Given the description of an element on the screen output the (x, y) to click on. 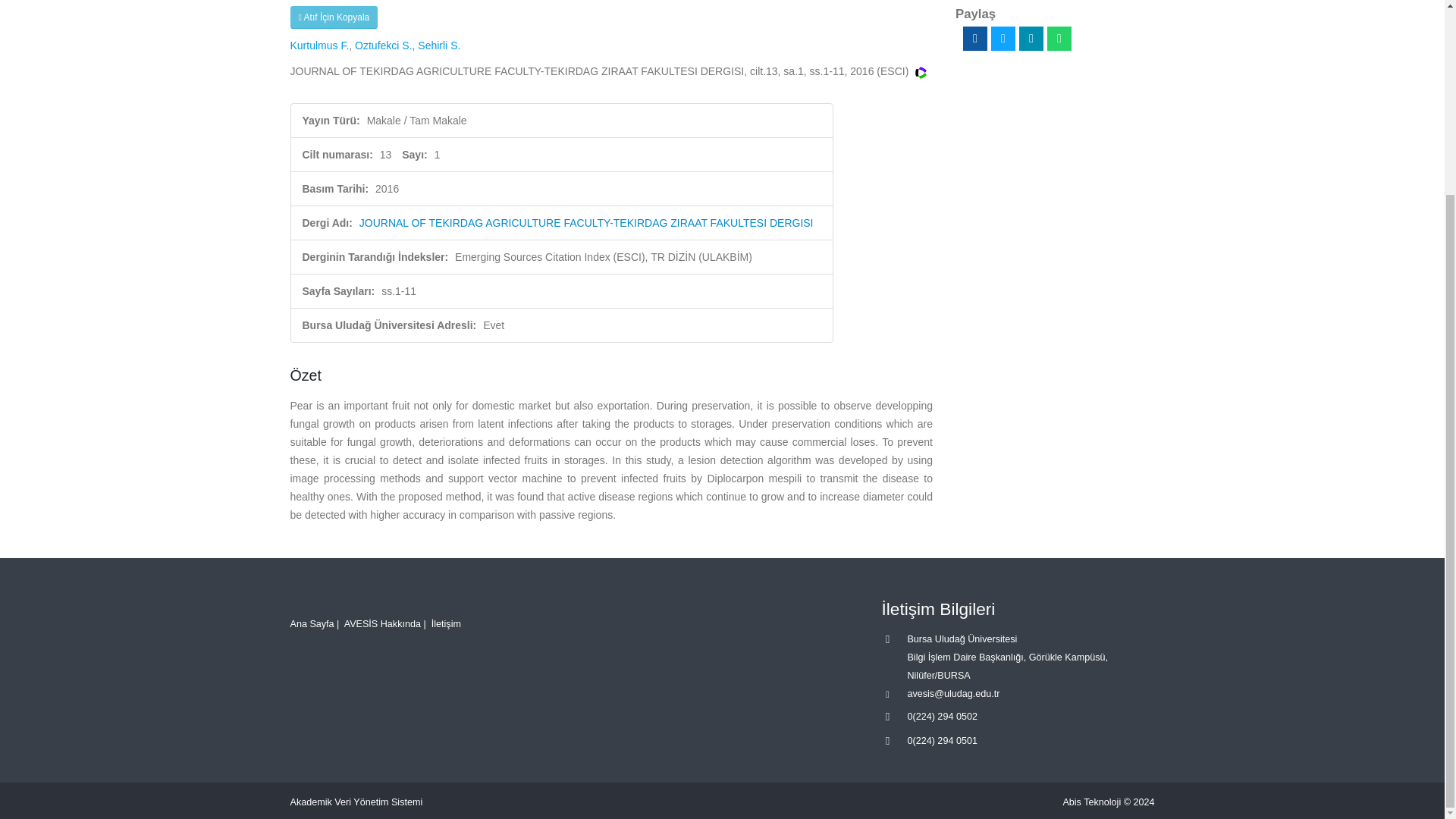
S. Sehirli (438, 45)
Abis Teknoloji (1091, 801)
Sehirli S. (438, 45)
F. Kurtulmus (319, 45)
Kurtulmus F. (319, 45)
S. Oztufekci (383, 45)
Oztufekci S. (383, 45)
Ana Sayfa (311, 624)
